Given the description of an element on the screen output the (x, y) to click on. 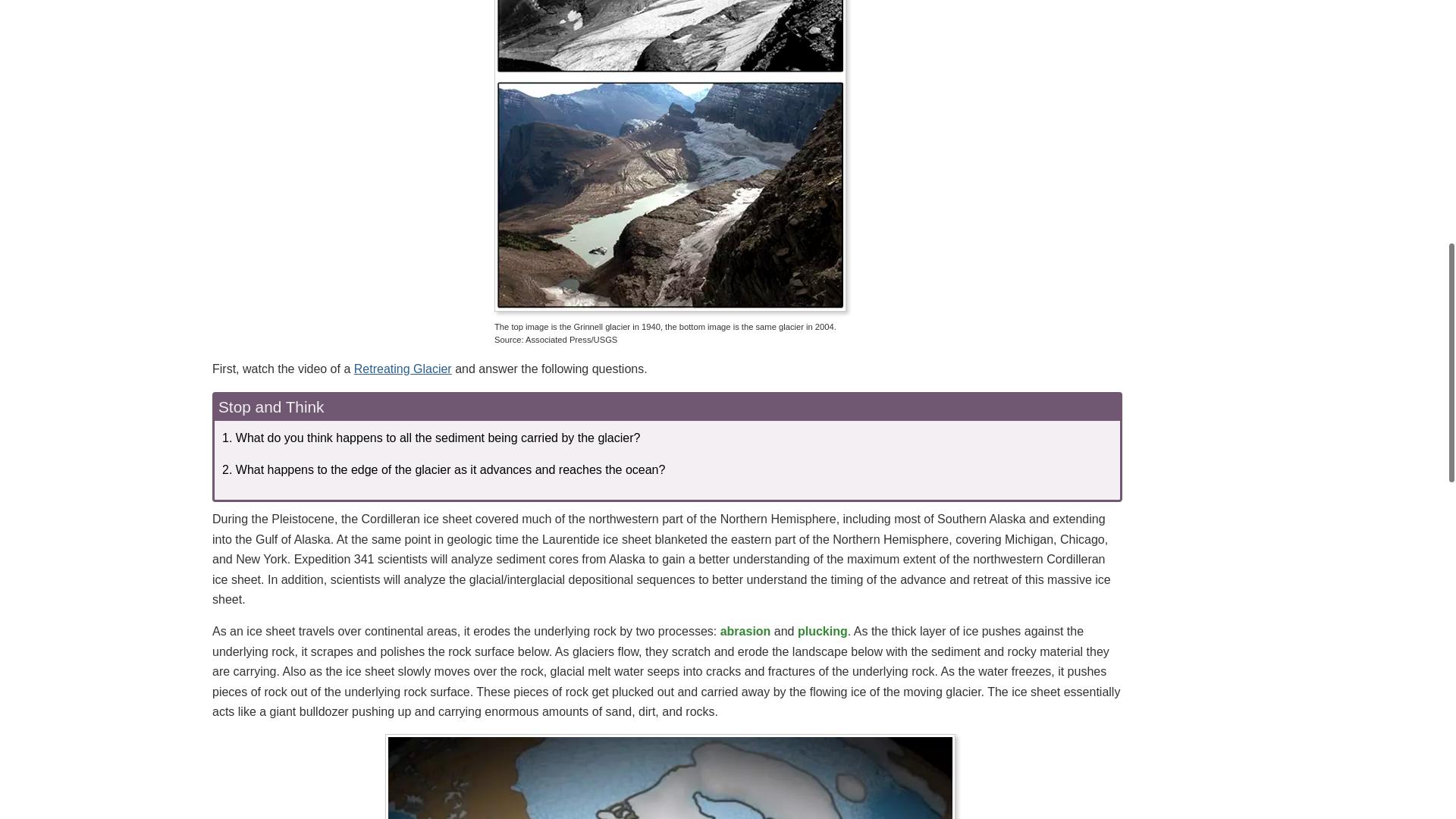
plucking (822, 631)
abrasion (745, 631)
Retreating Glacier (402, 368)
